Given the description of an element on the screen output the (x, y) to click on. 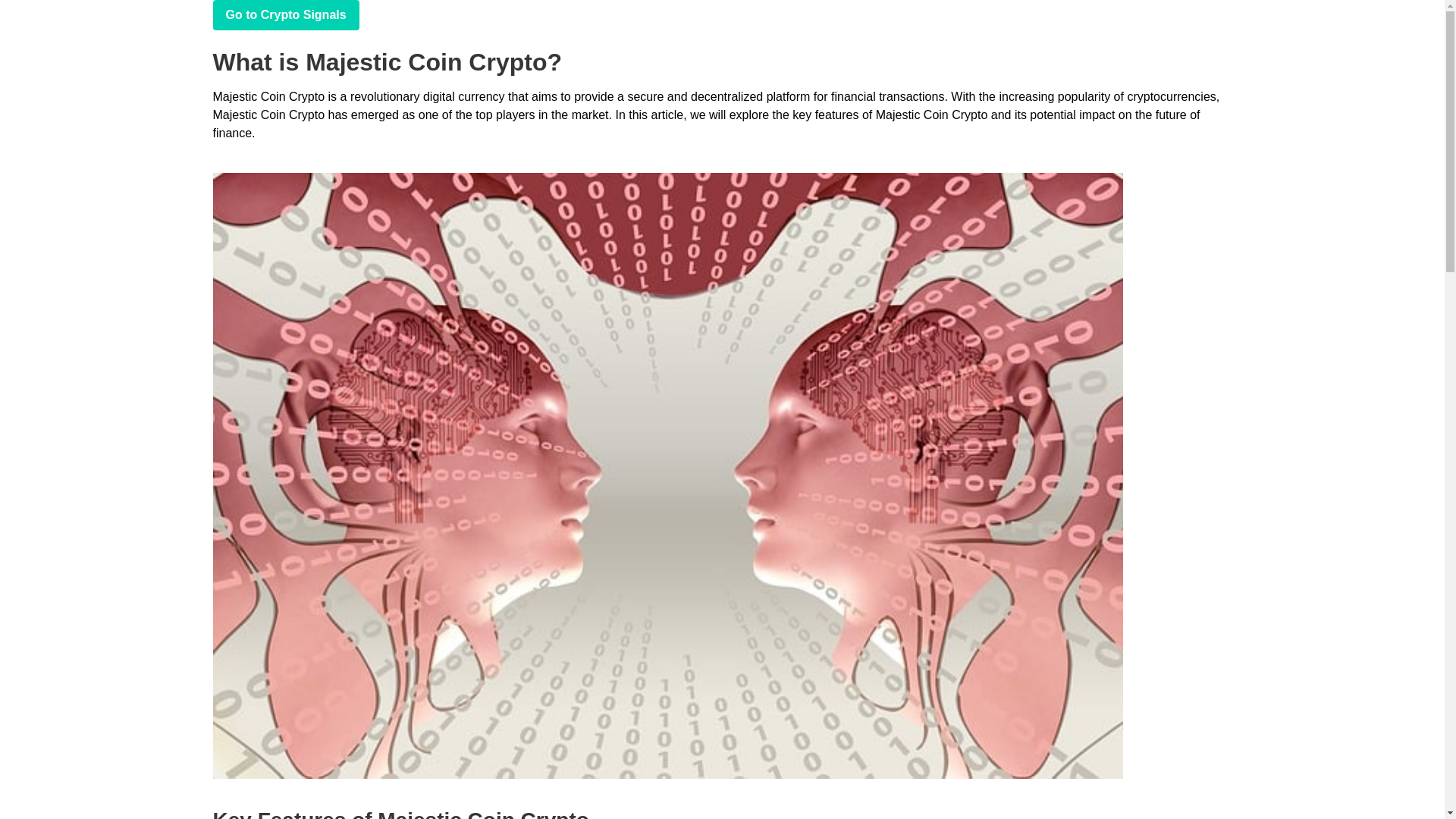
play (285, 15)
Go to Crypto Signals (285, 15)
